Given the description of an element on the screen output the (x, y) to click on. 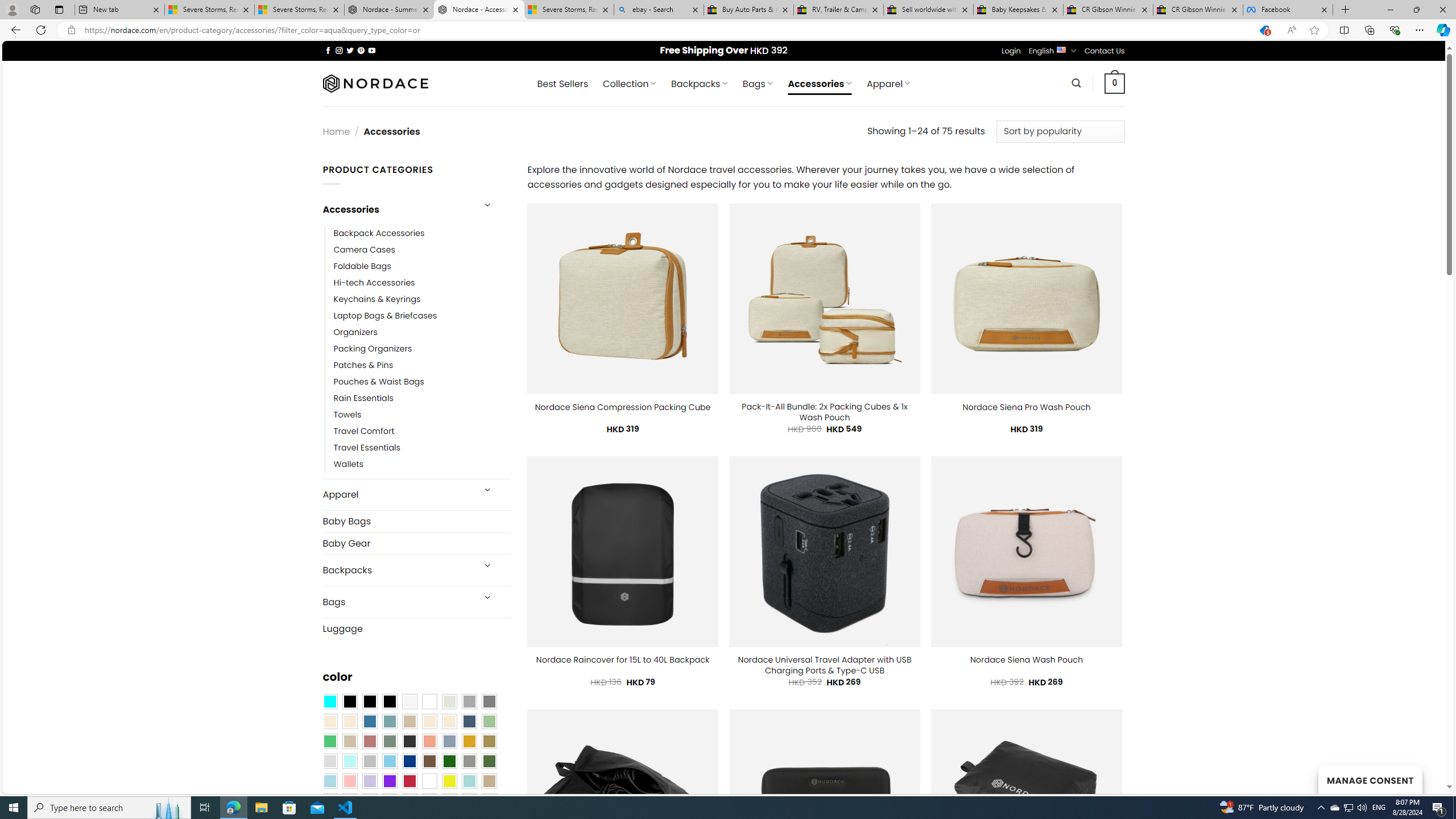
Accessories (397, 209)
Light Taupe (349, 741)
Dusty Blue (449, 741)
Brownie (408, 721)
